Given the description of an element on the screen output the (x, y) to click on. 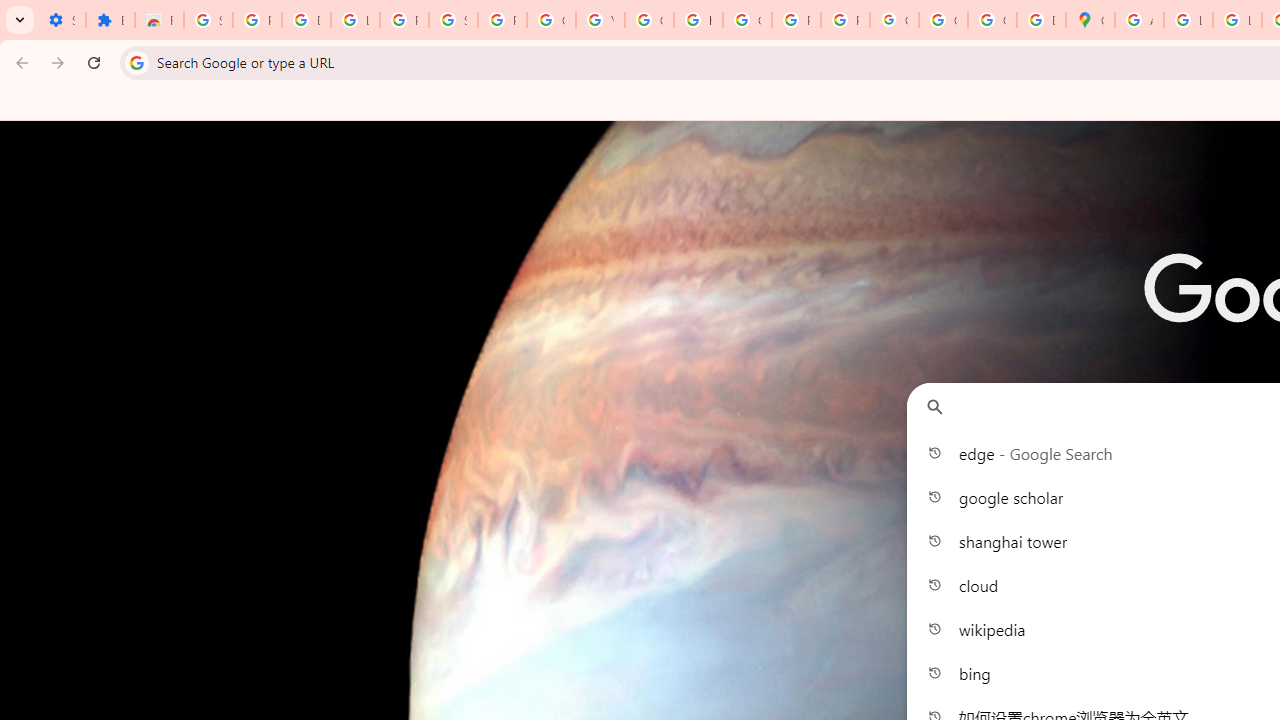
Learn how to find your photos - Google Photos Help (355, 20)
